Given the description of an element on the screen output the (x, y) to click on. 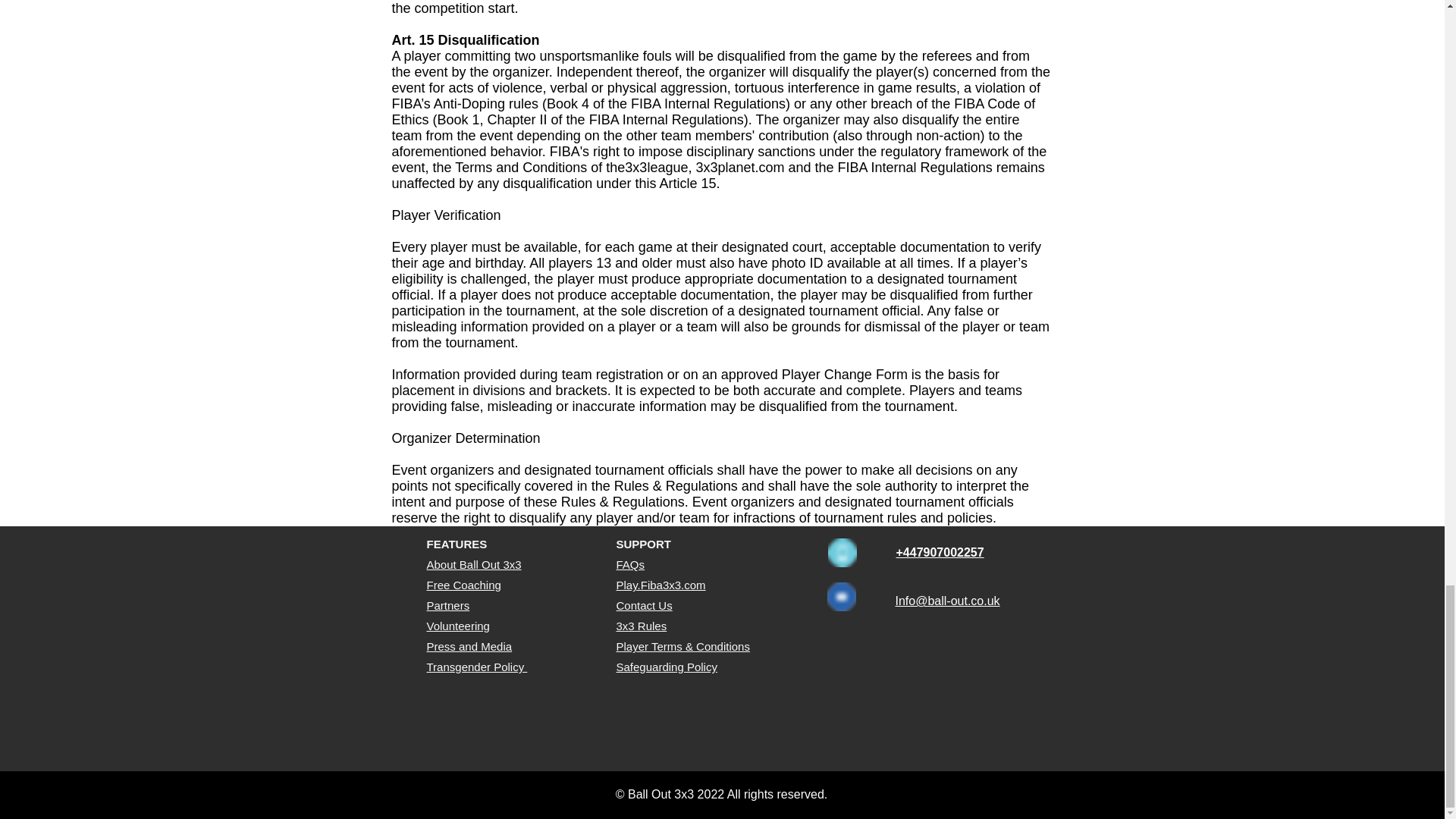
Partners (447, 604)
Volunteering (457, 625)
Contact Us (643, 604)
3x3 Rules (640, 625)
FAQs (630, 563)
SUPPORT (643, 543)
Play.Fiba3x3.com (659, 584)
Safeguarding Policy (665, 666)
Transgender Policy  (476, 666)
Press and Media (469, 645)
